Given the description of an element on the screen output the (x, y) to click on. 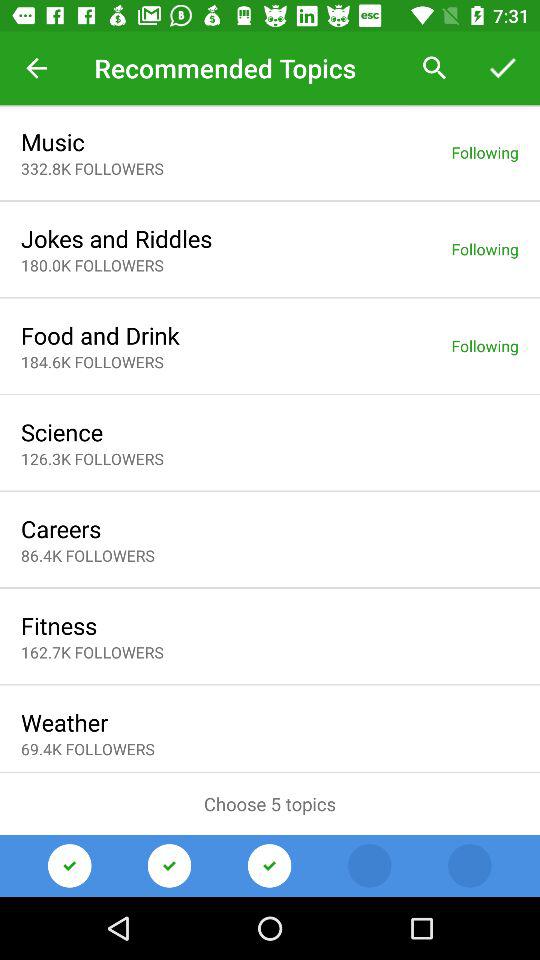
turn off the item next to the recommended topics (434, 67)
